Given the description of an element on the screen output the (x, y) to click on. 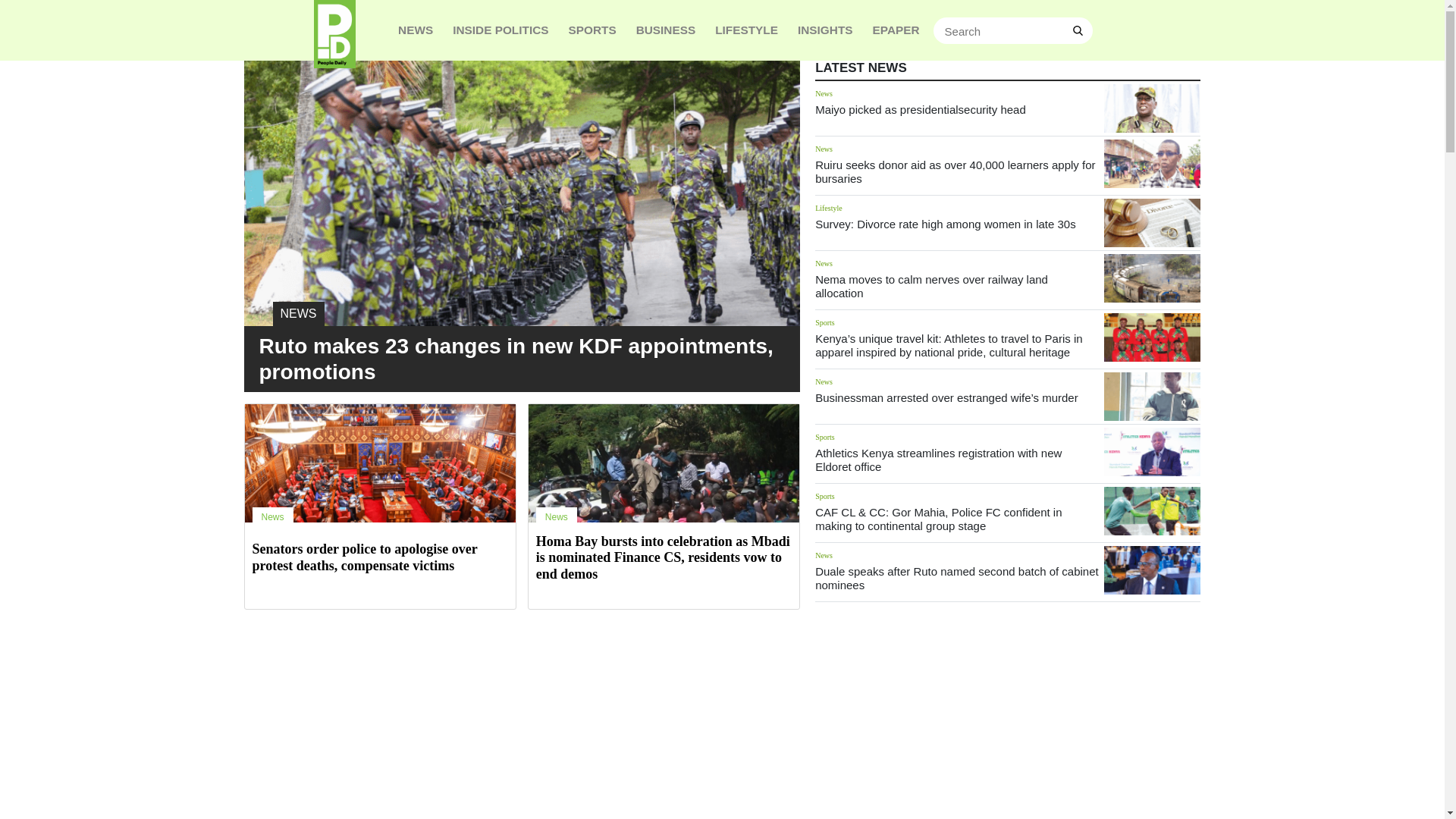
INSIGHTS (825, 30)
Nema moves to calm nerves over railway land allocation (931, 285)
Survey: Divorce rate high among women in late 30s (945, 223)
Maiyo picked as presidentialsecurity head (920, 109)
NEWS (522, 255)
Ruto makes 23 changes in new KDF appointments, promotions (516, 359)
Search for: (1013, 29)
Maiyo picked as presidentialsecurity head (1151, 108)
BUSINESS (665, 30)
INSIDE POLITICS (500, 30)
